Given the description of an element on the screen output the (x, y) to click on. 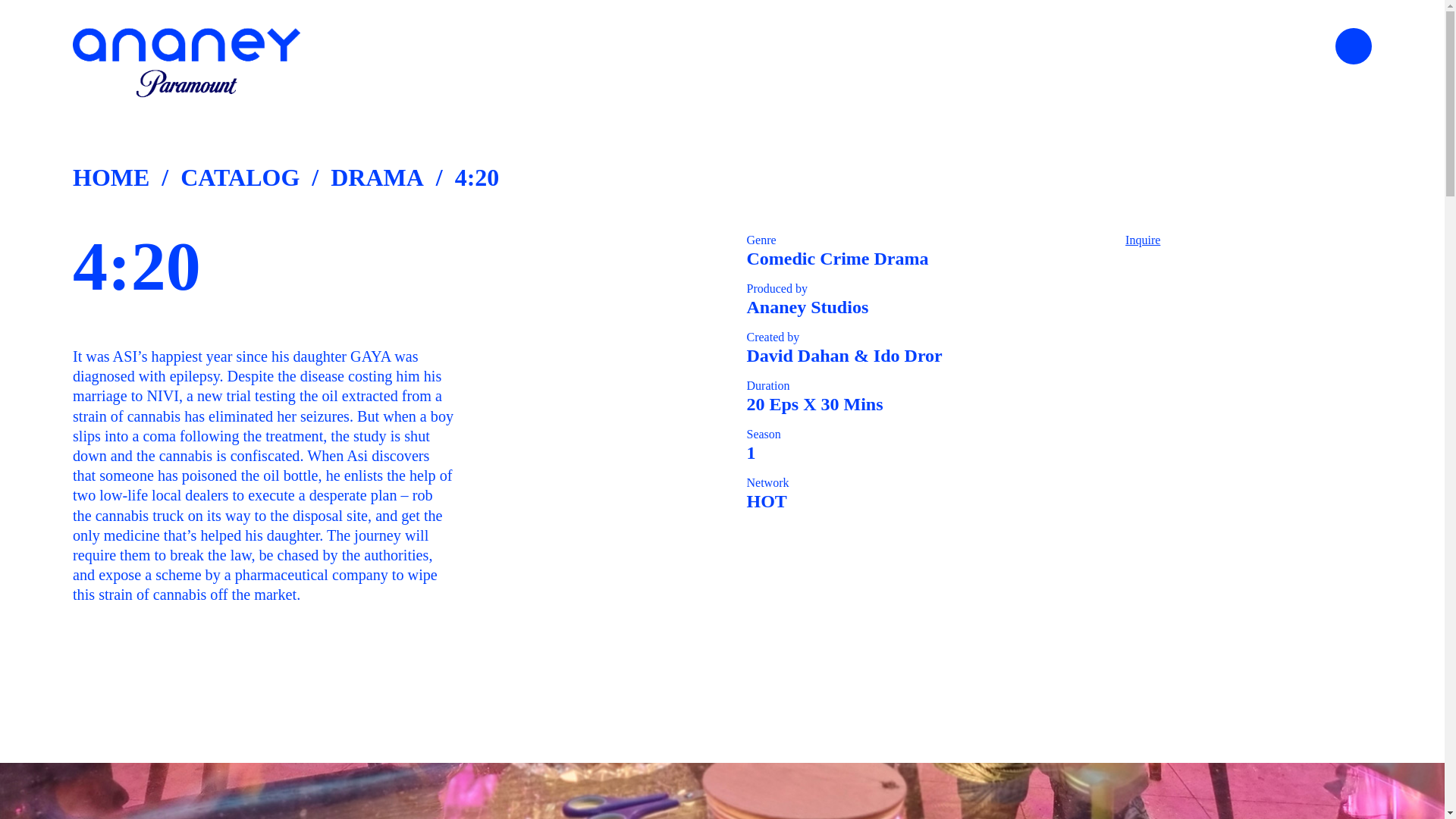
HOME (110, 176)
CATALOG (239, 177)
DRAMA (376, 176)
Inquire (1142, 239)
4:20 (476, 176)
